Given the description of an element on the screen output the (x, y) to click on. 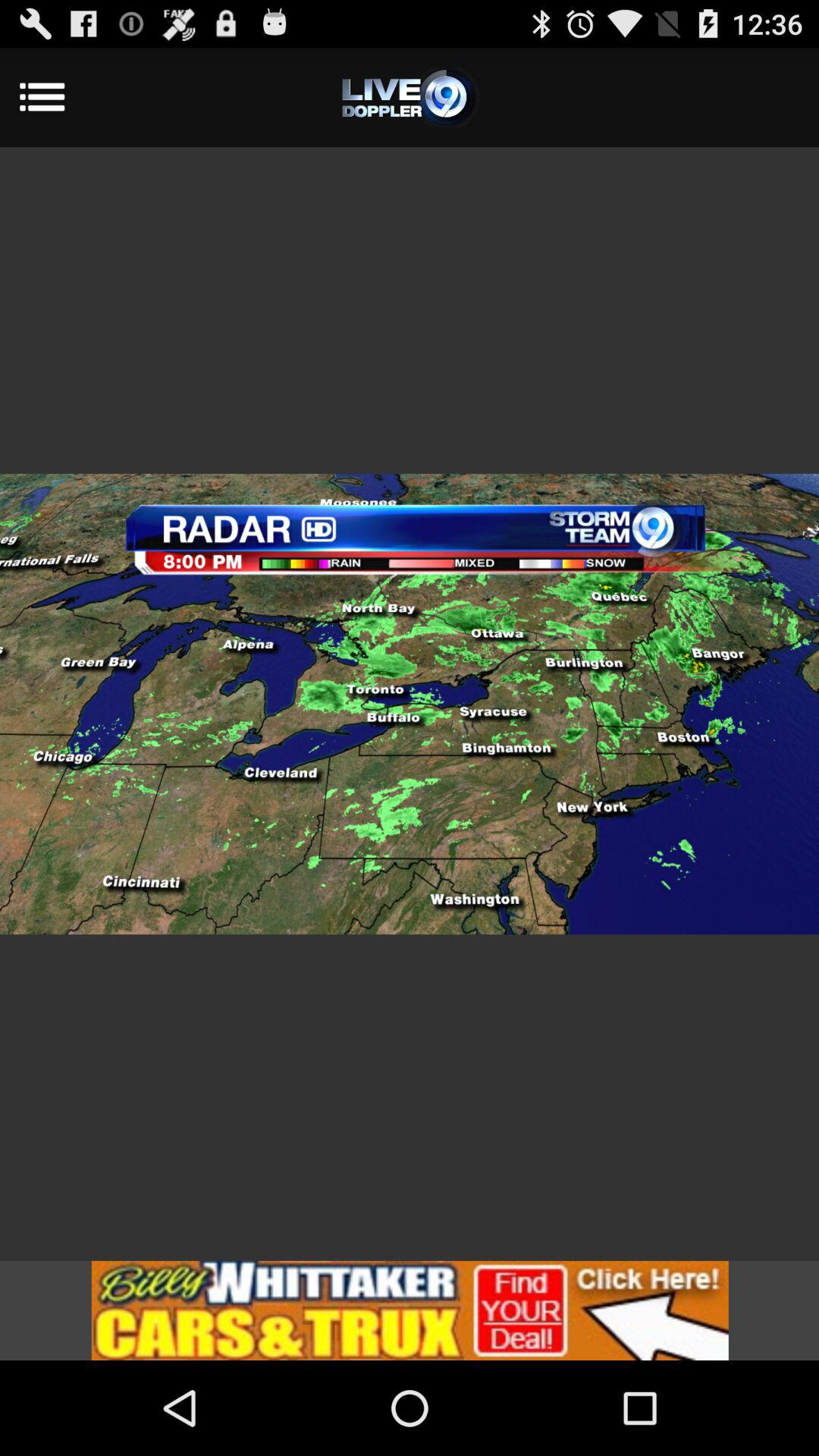
interact with live weather map (409, 703)
